Given the description of an element on the screen output the (x, y) to click on. 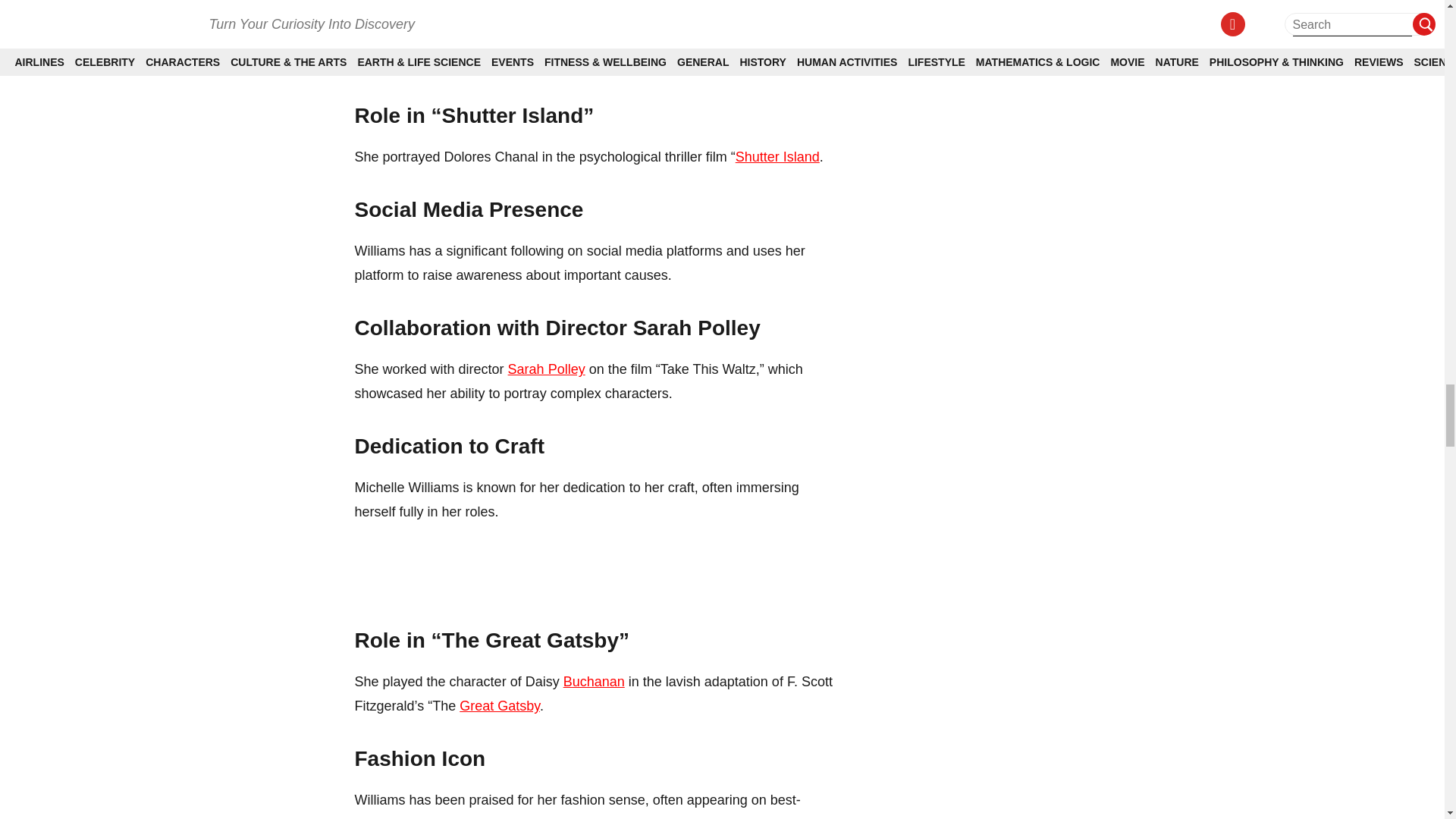
Sarah Polley (546, 368)
Great Gatsby (500, 705)
Shutter Island (777, 156)
Buchanan (593, 681)
